Given the description of an element on the screen output the (x, y) to click on. 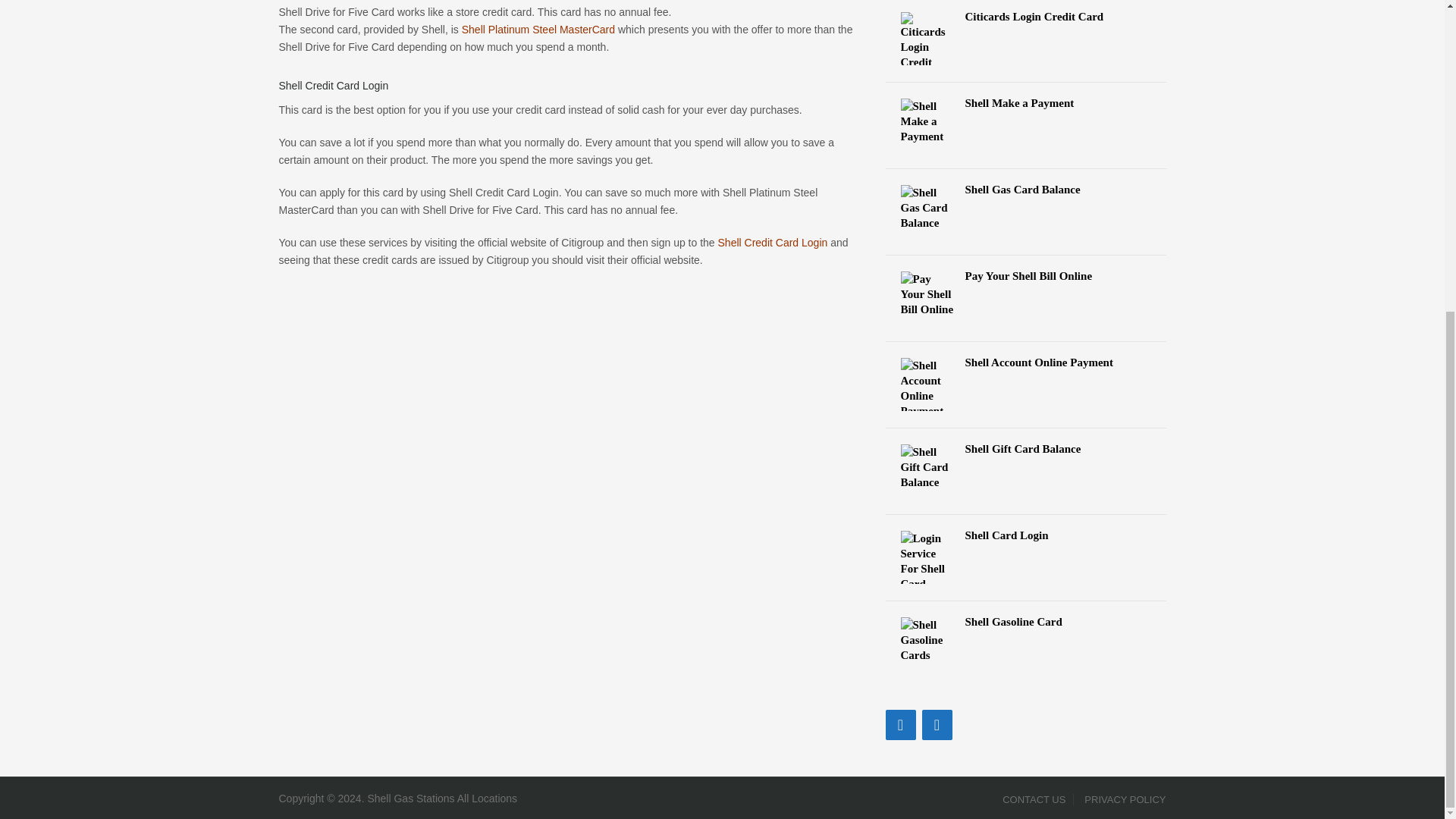
Shell Gasoline Card (1026, 621)
Shell Account Online Payment (1026, 362)
PRIVACY POLICY (1121, 799)
Shell Gift Card Balance (1026, 448)
Pay Your Shell Bill Online (1026, 275)
CONTACT US (1034, 799)
Shell Card Login (1026, 534)
Shell Gas Card Balance (1026, 189)
Shell Make a Payment (1026, 102)
Citicards Login Credit Card (1026, 16)
